Given the description of an element on the screen output the (x, y) to click on. 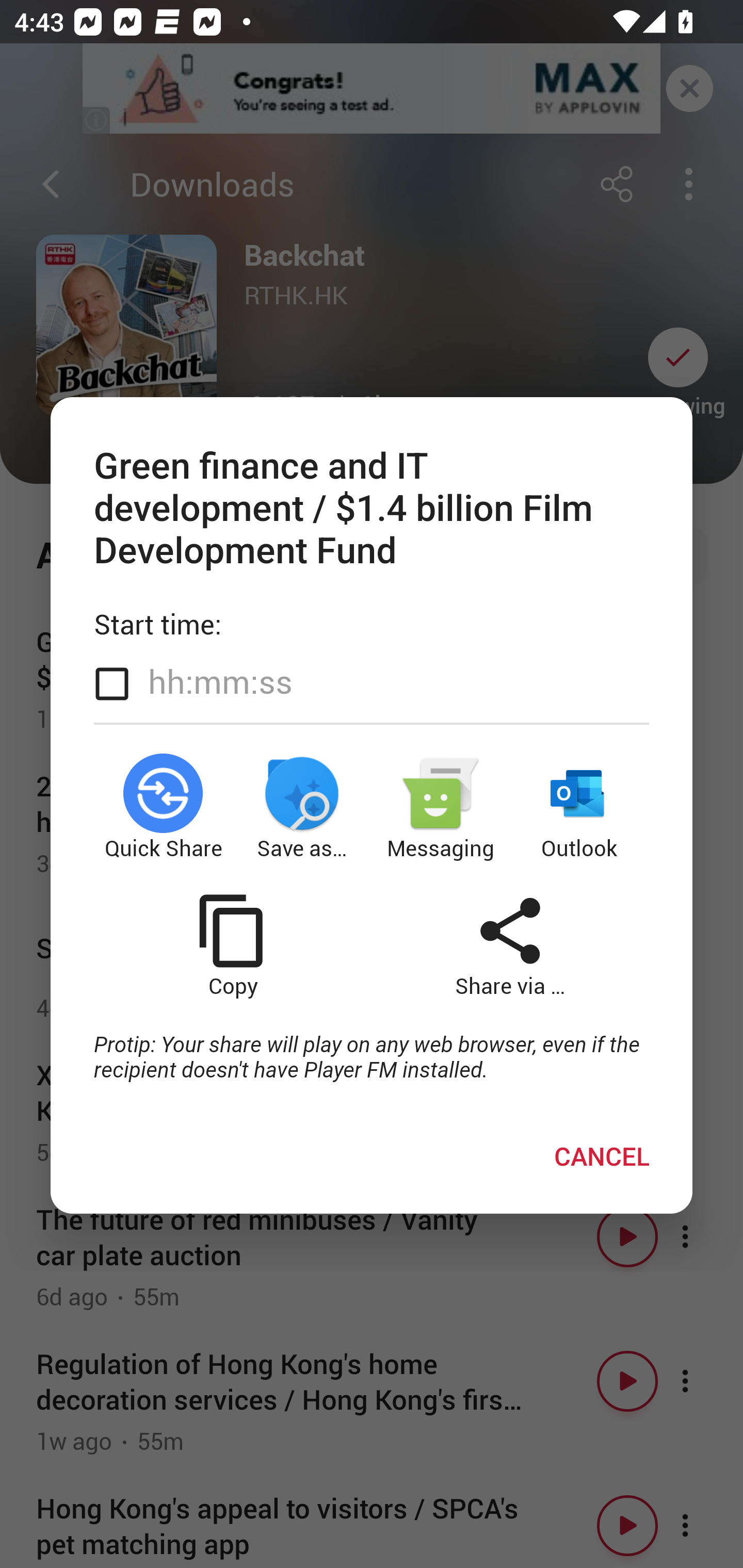
hh:mm:ss (220, 681)
Quick Share (163, 808)
Save as… (301, 808)
Messaging (440, 808)
Outlook (579, 808)
Copy (232, 945)
Share via … (509, 945)
CANCEL (600, 1156)
